Given the description of an element on the screen output the (x, y) to click on. 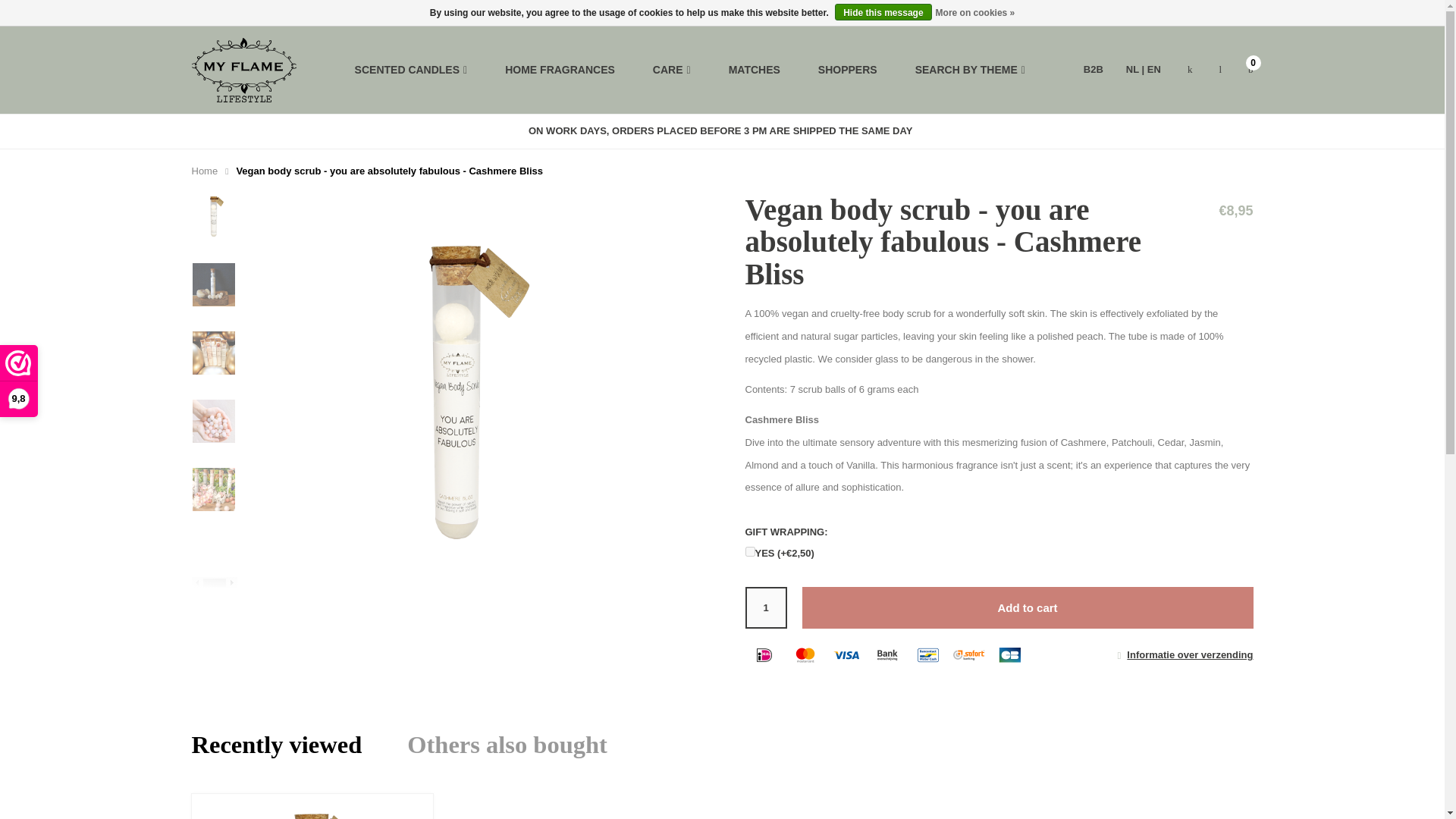
71842619 (749, 551)
1 (765, 607)
